Given the description of an element on the screen output the (x, y) to click on. 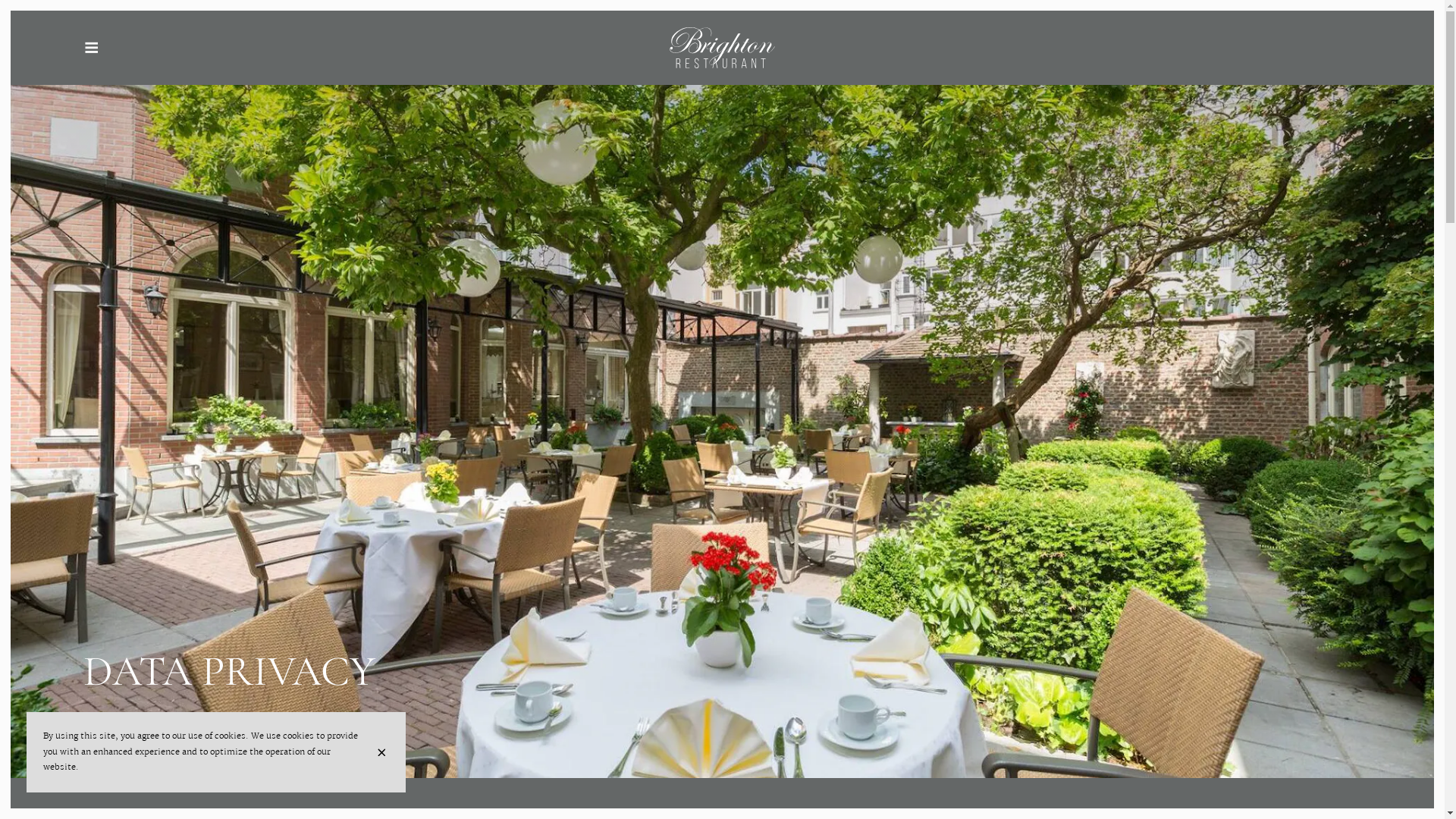
cover Element type: hover (721, 389)
Logo of Brighton Restaurant Element type: hover (721, 47)
Close the cookie information banner Element type: hover (382, 751)
BRIGHTON RESTAURANT Element type: text (721, 47)
